Given the description of an element on the screen output the (x, y) to click on. 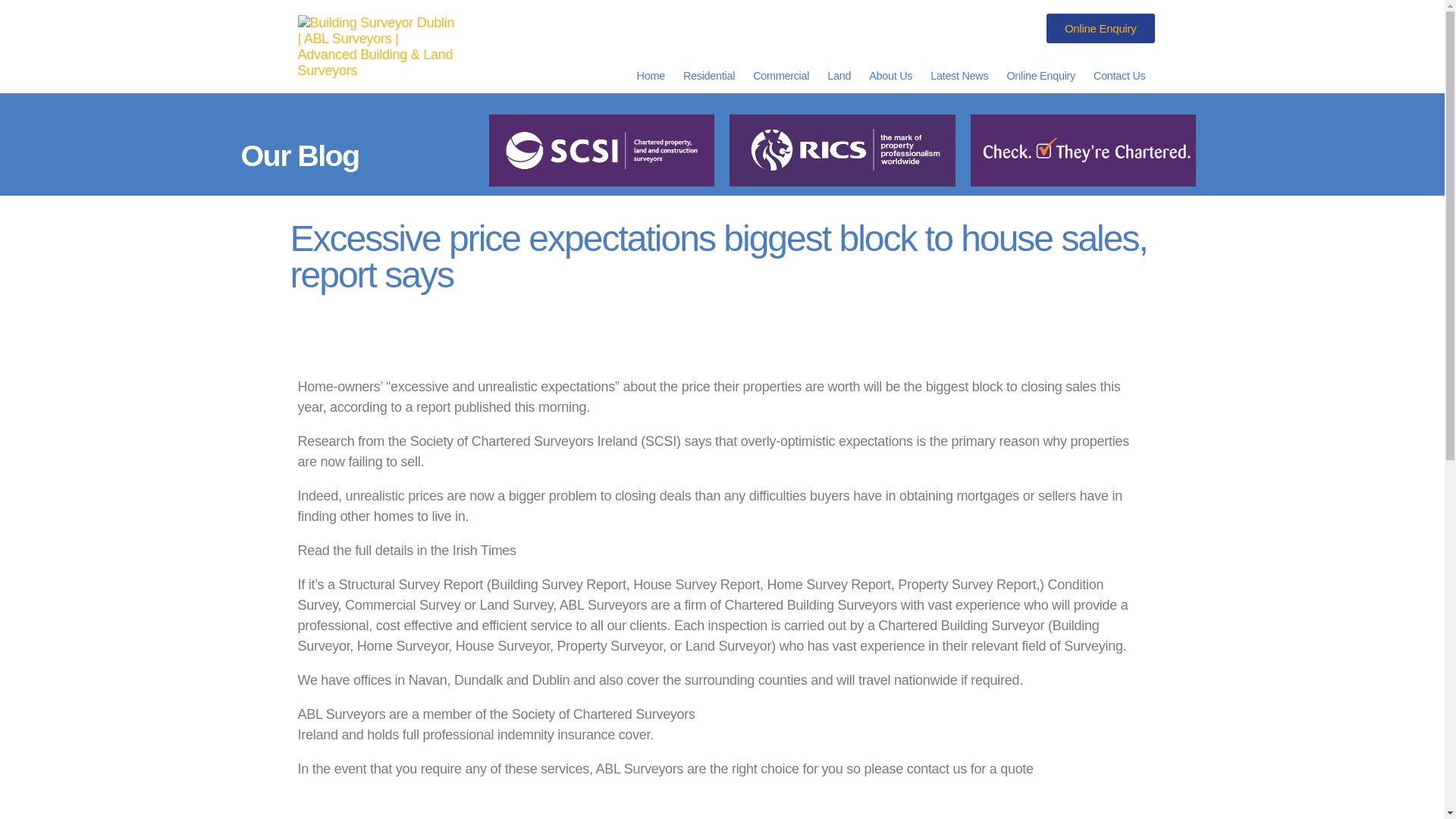
Land (839, 75)
Residential (709, 75)
Latest News (959, 75)
Online Enquiry (1100, 28)
About Us (890, 75)
Contact Us (1119, 75)
Commercial (781, 75)
Online Enquiry (1040, 75)
Home (650, 75)
